Given the description of an element on the screen output the (x, y) to click on. 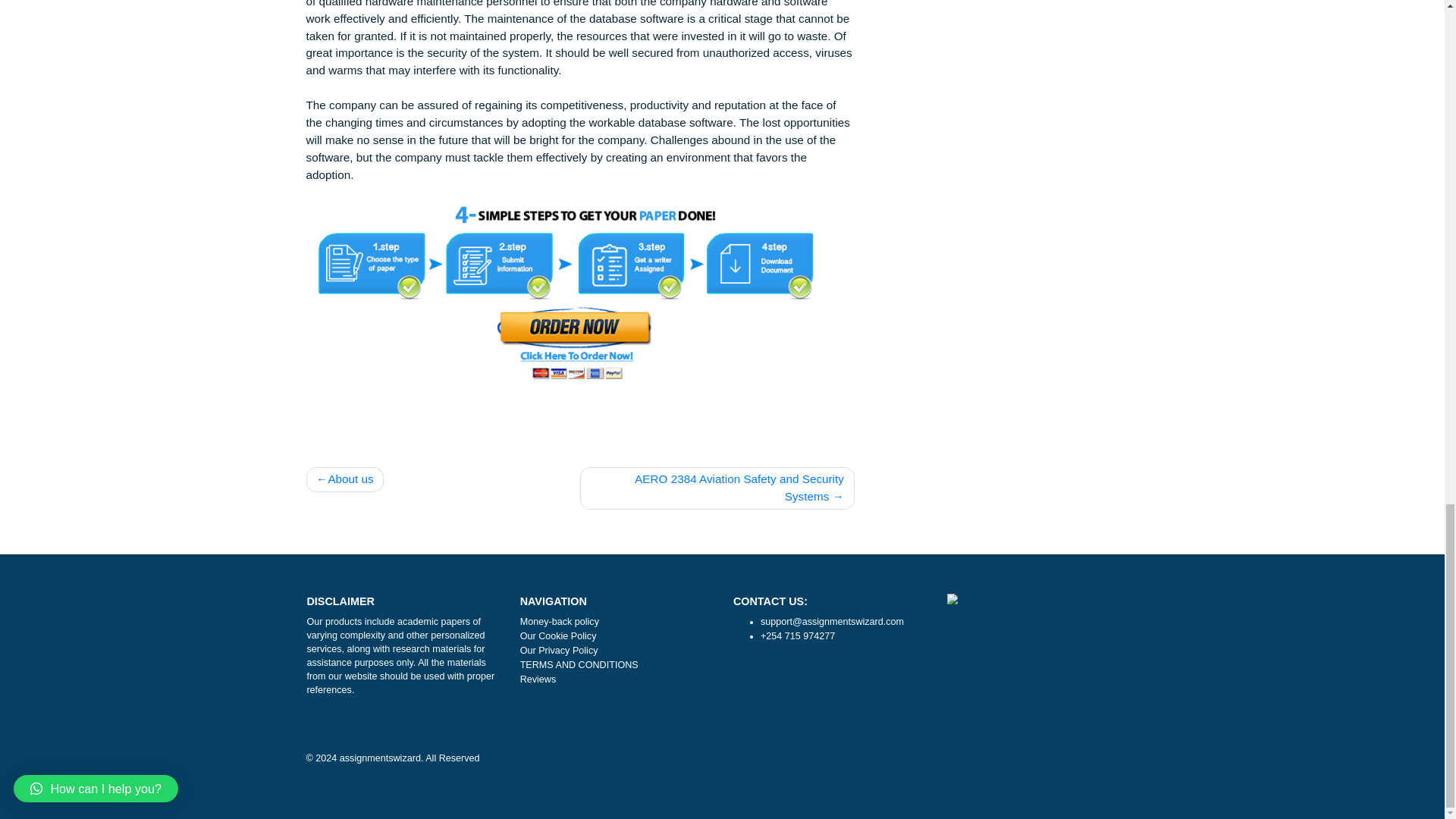
AERO 2384 Aviation Safety and Security Systems (797, 690)
About us (382, 680)
